Given the description of an element on the screen output the (x, y) to click on. 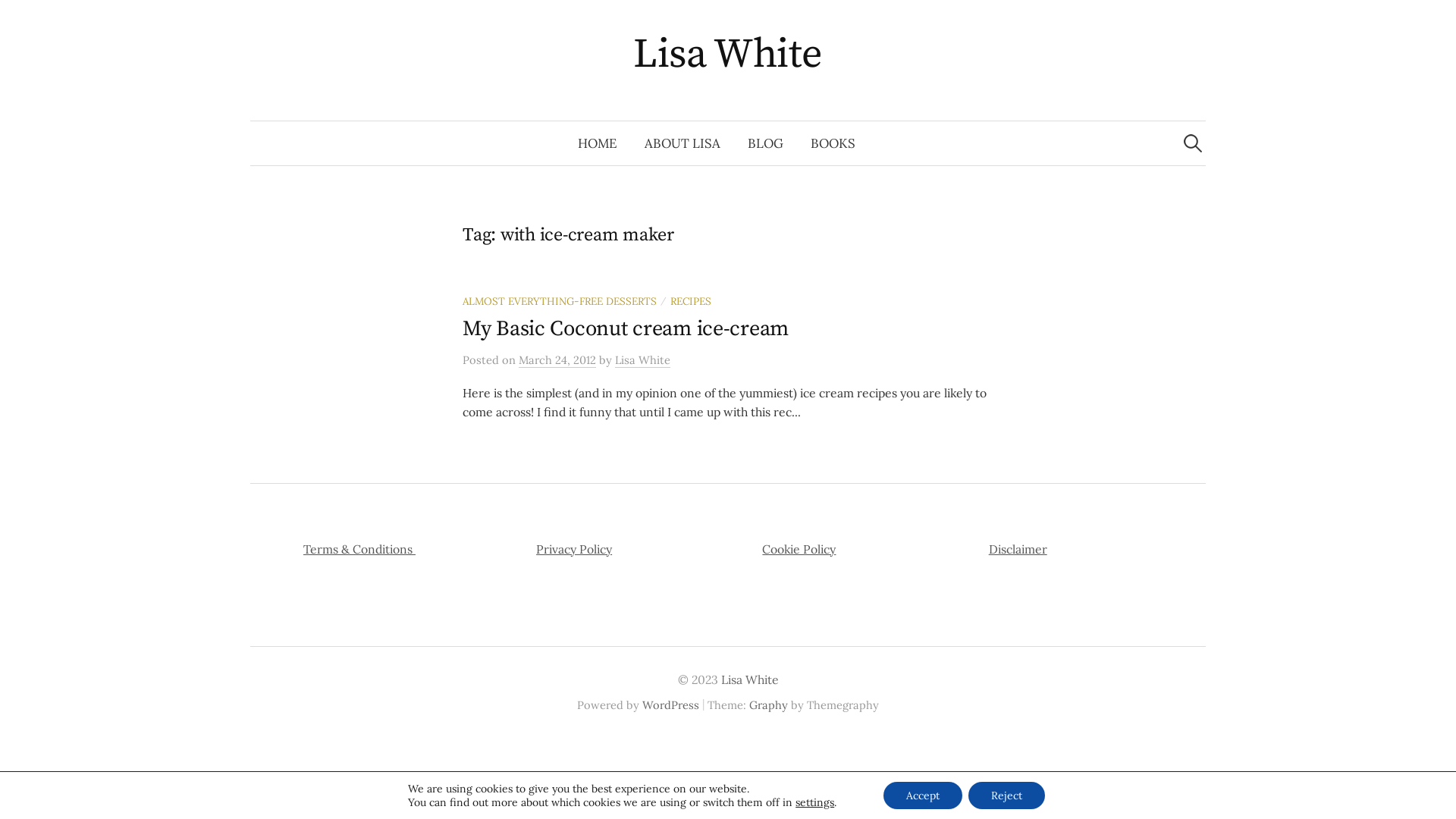
WordPress Element type: text (670, 704)
ALMOST EVERYTHING-FREE DESSERTS Element type: text (559, 300)
Graphy Element type: text (768, 704)
Search Element type: text (18, 18)
Accept Element type: text (922, 795)
Lisa White Element type: text (642, 359)
My Basic Coconut cream ice-cream Element type: text (625, 328)
BOOKS Element type: text (833, 143)
Lisa White Element type: text (727, 54)
Disclaimer Element type: text (1017, 548)
Privacy Policy Element type: text (573, 548)
Reject Element type: text (1006, 795)
ABOUT LISA Element type: text (682, 143)
BLOG Element type: text (765, 143)
RECIPES Element type: text (690, 300)
HOME Element type: text (597, 143)
Lisa White Element type: text (749, 679)
Cookie Policy Element type: text (798, 548)
March 24, 2012 Element type: text (557, 359)
settings Element type: text (814, 802)
Terms & Conditions  Element type: text (359, 548)
